Given the description of an element on the screen output the (x, y) to click on. 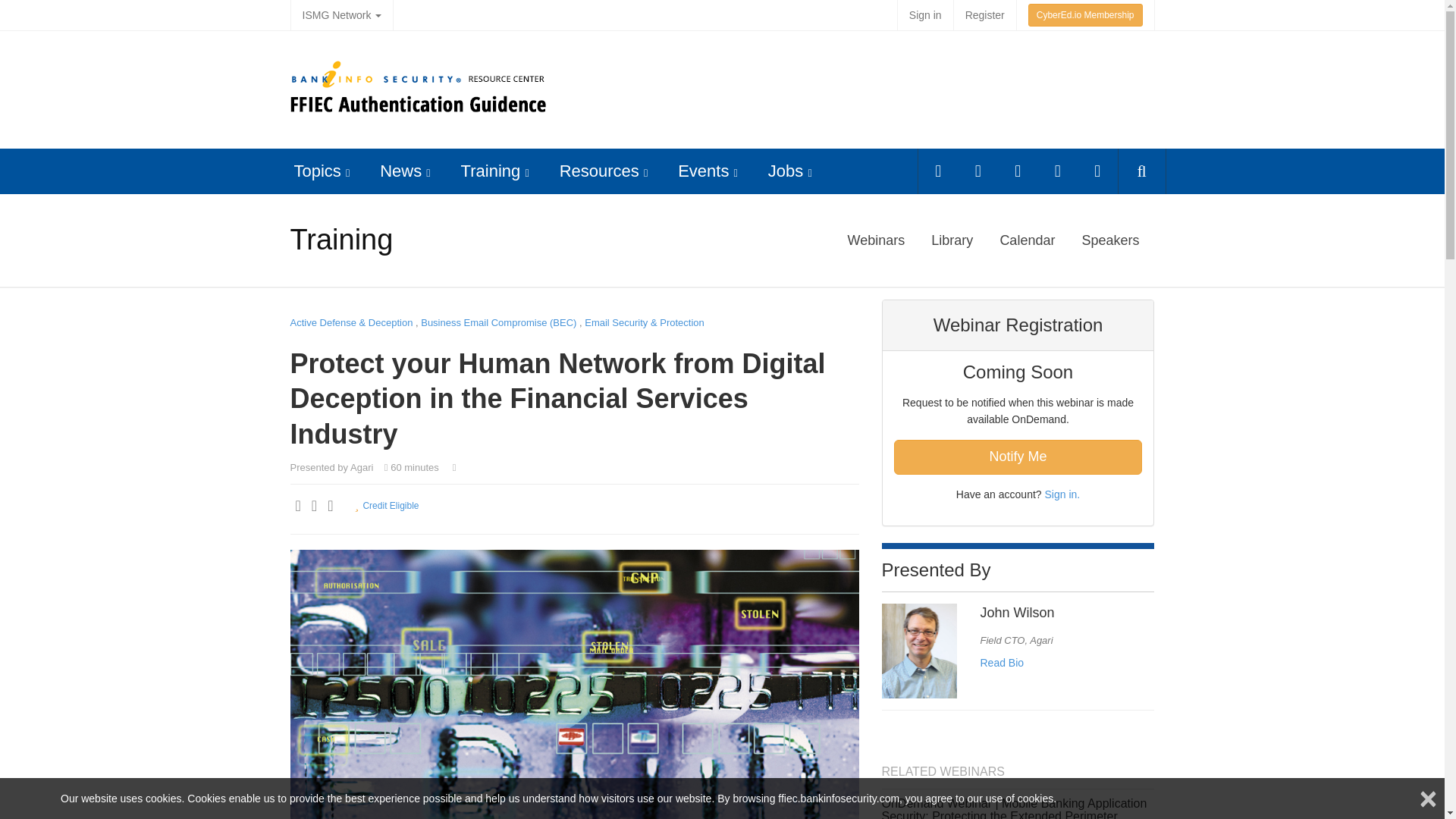
Register (984, 15)
Sign in (925, 15)
CyberEd.io Membership (1084, 15)
Topics (317, 170)
ISMG Network (341, 15)
News (401, 170)
